Given the description of an element on the screen output the (x, y) to click on. 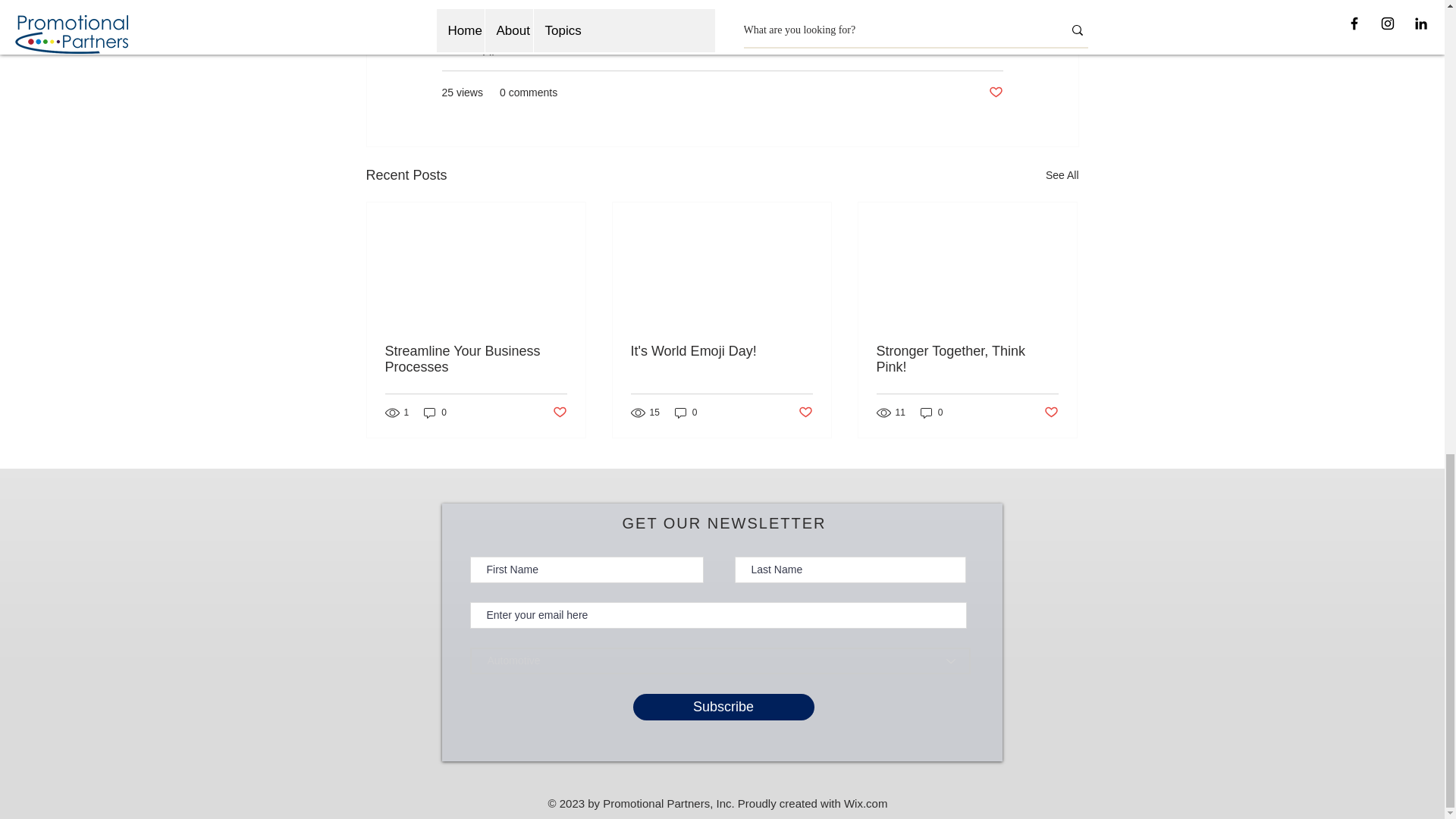
Streamline Your Business Processes (476, 359)
Quirky Enough To Work (947, 47)
See All (1061, 175)
Tech (746, 47)
Post not marked as liked (995, 92)
0 (435, 412)
